Given the description of an element on the screen output the (x, y) to click on. 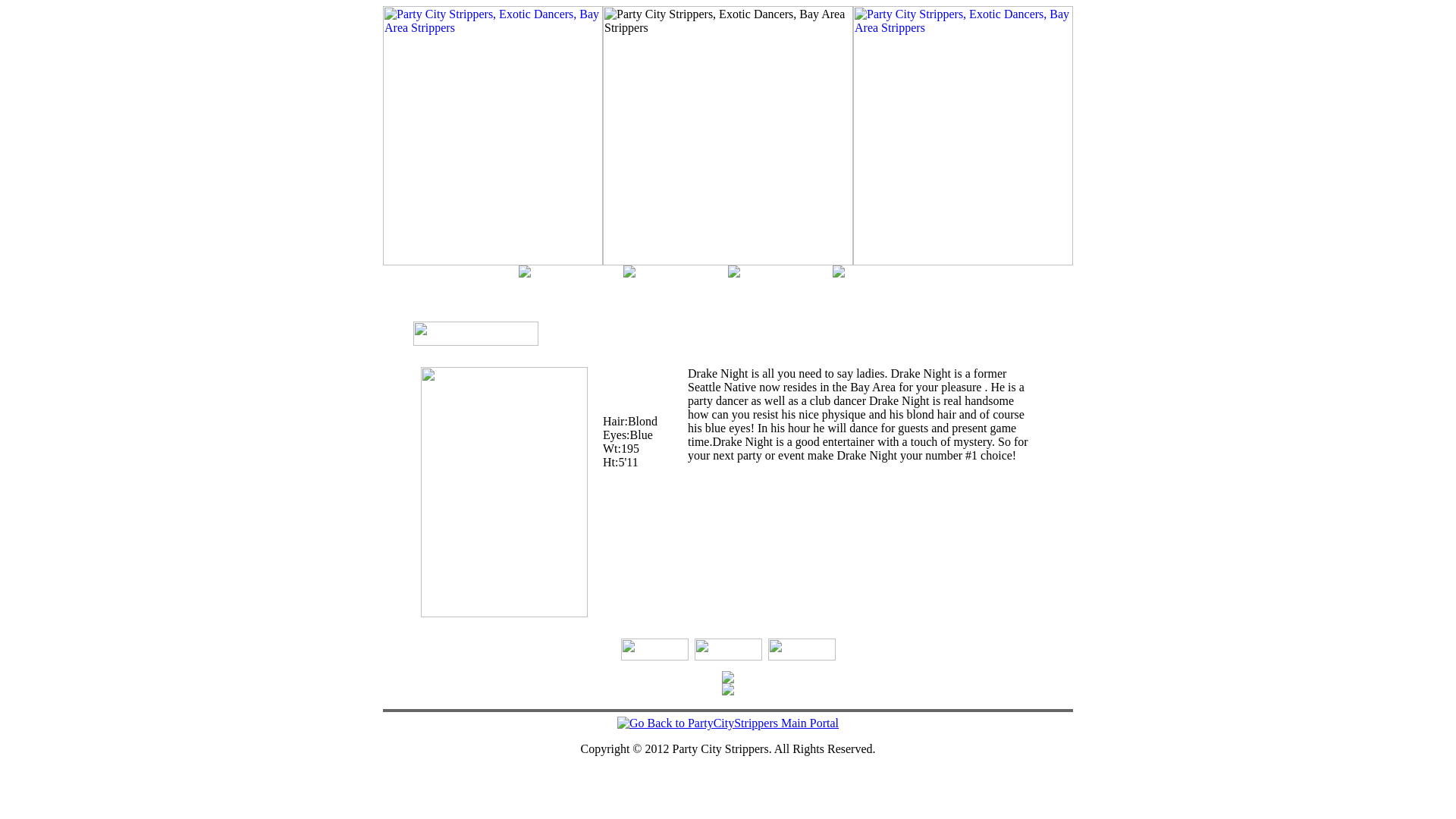
Party City Strippers, Exotic Dancers, Bay Area Strippers Element type: hover (492, 135)
Party City Strippers, Exotic Dancers, Bay Area Strippers Element type: hover (963, 135)
Party City Strippers, Exotic Dancers, Bay Area Strippers Element type: hover (727, 135)
